Given the description of an element on the screen output the (x, y) to click on. 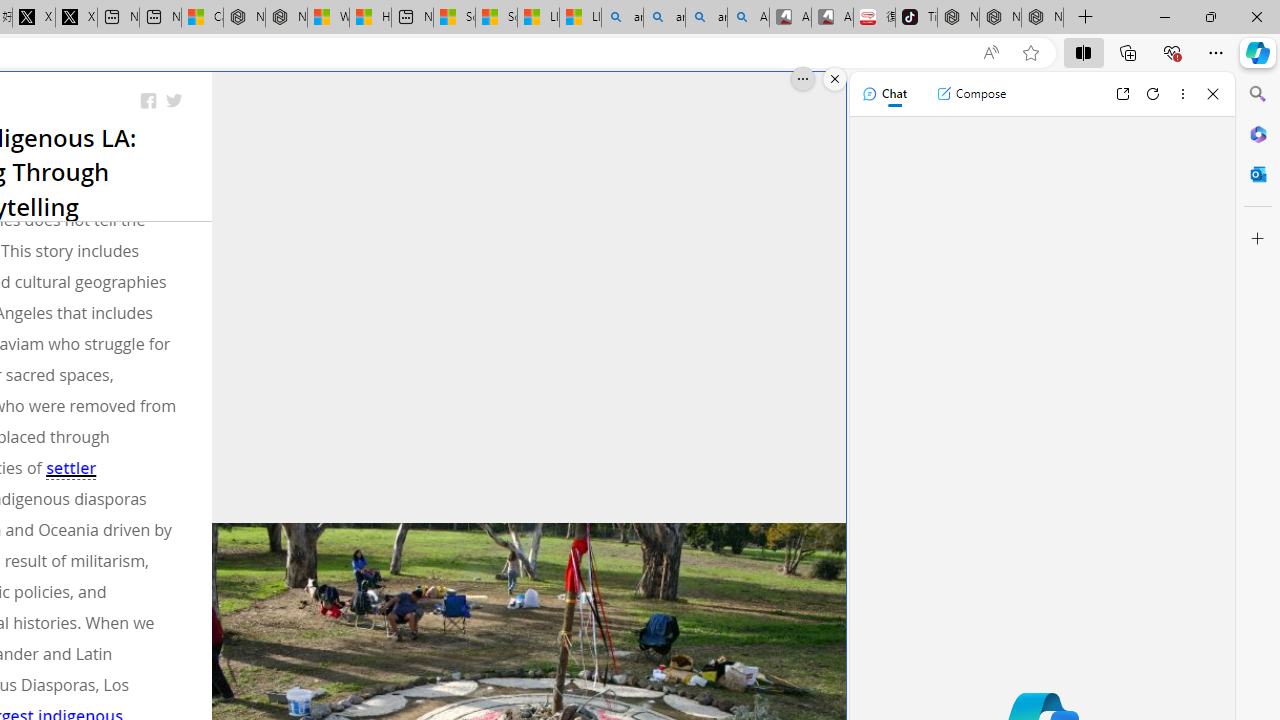
Nordace Siena Pro 15 Backpack (1000, 17)
Close split screen. (835, 79)
amazon - Search Images (706, 17)
Chat (884, 93)
Share on Facebook (148, 101)
Outlook (1258, 174)
